Given the description of an element on the screen output the (x, y) to click on. 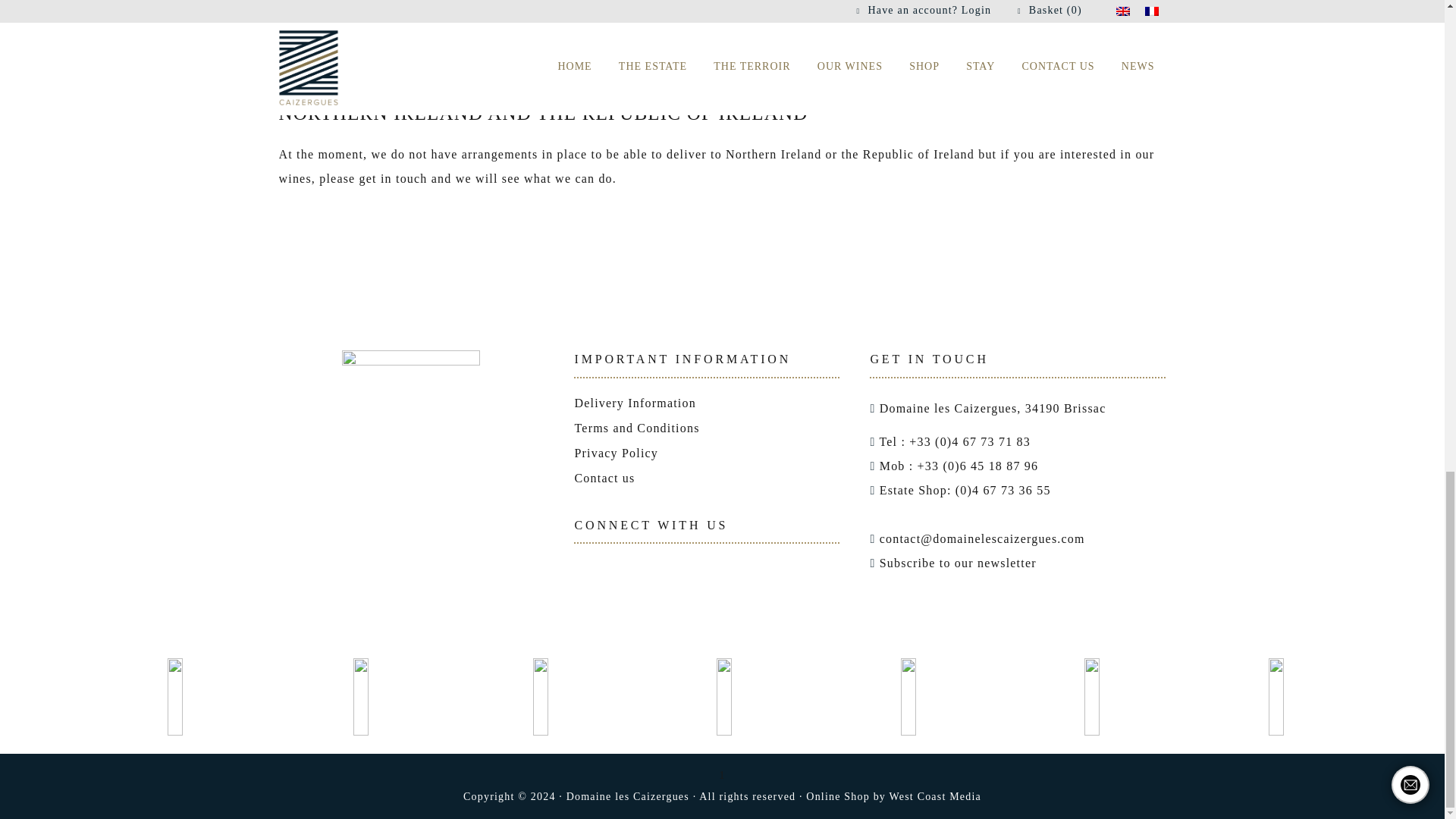
Terms and Conditions (635, 427)
Contact us (603, 477)
Delivery Information (634, 402)
Privacy Policy (615, 452)
